Given the description of an element on the screen output the (x, y) to click on. 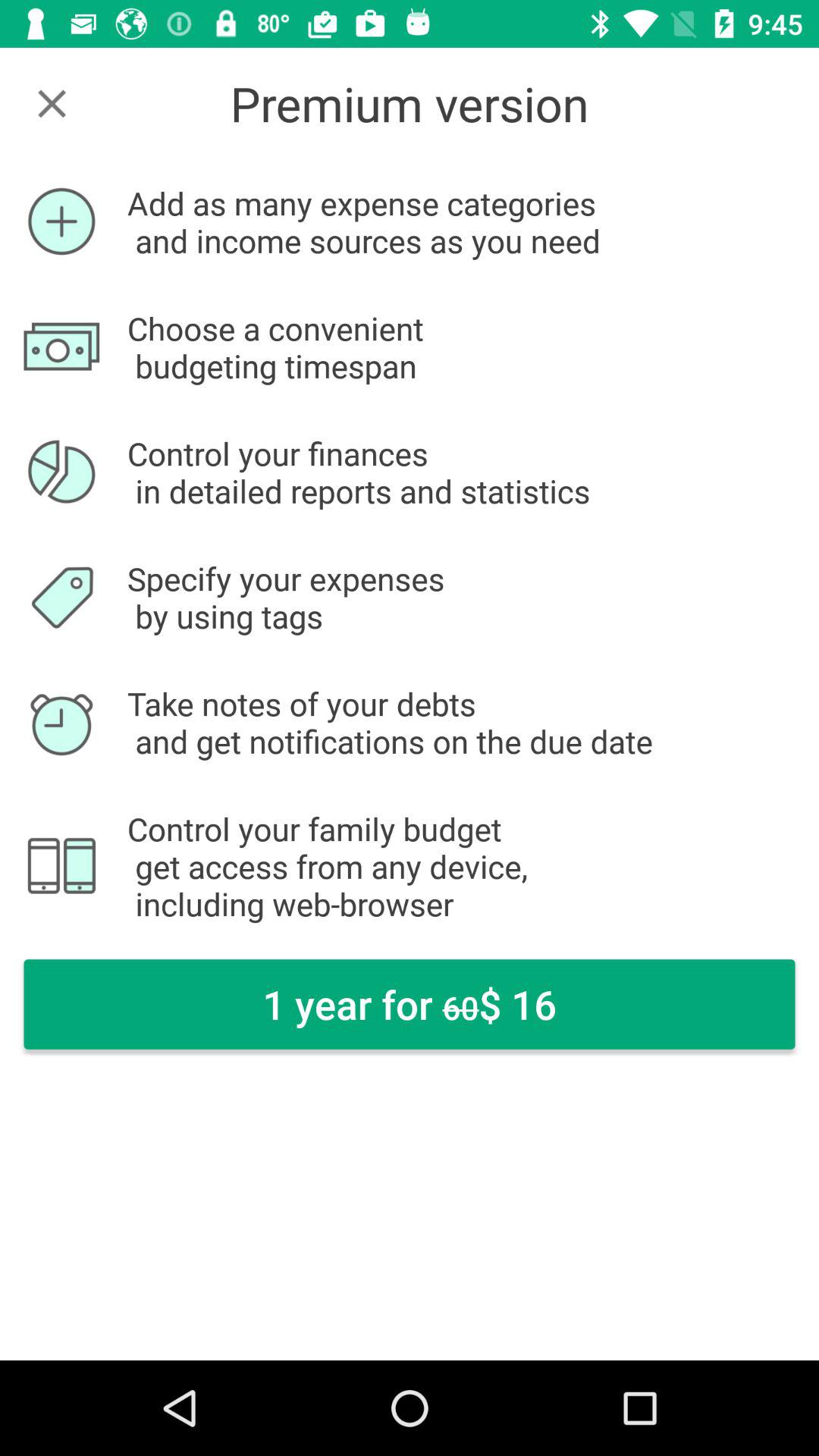
exit the menu (51, 103)
